Given the description of an element on the screen output the (x, y) to click on. 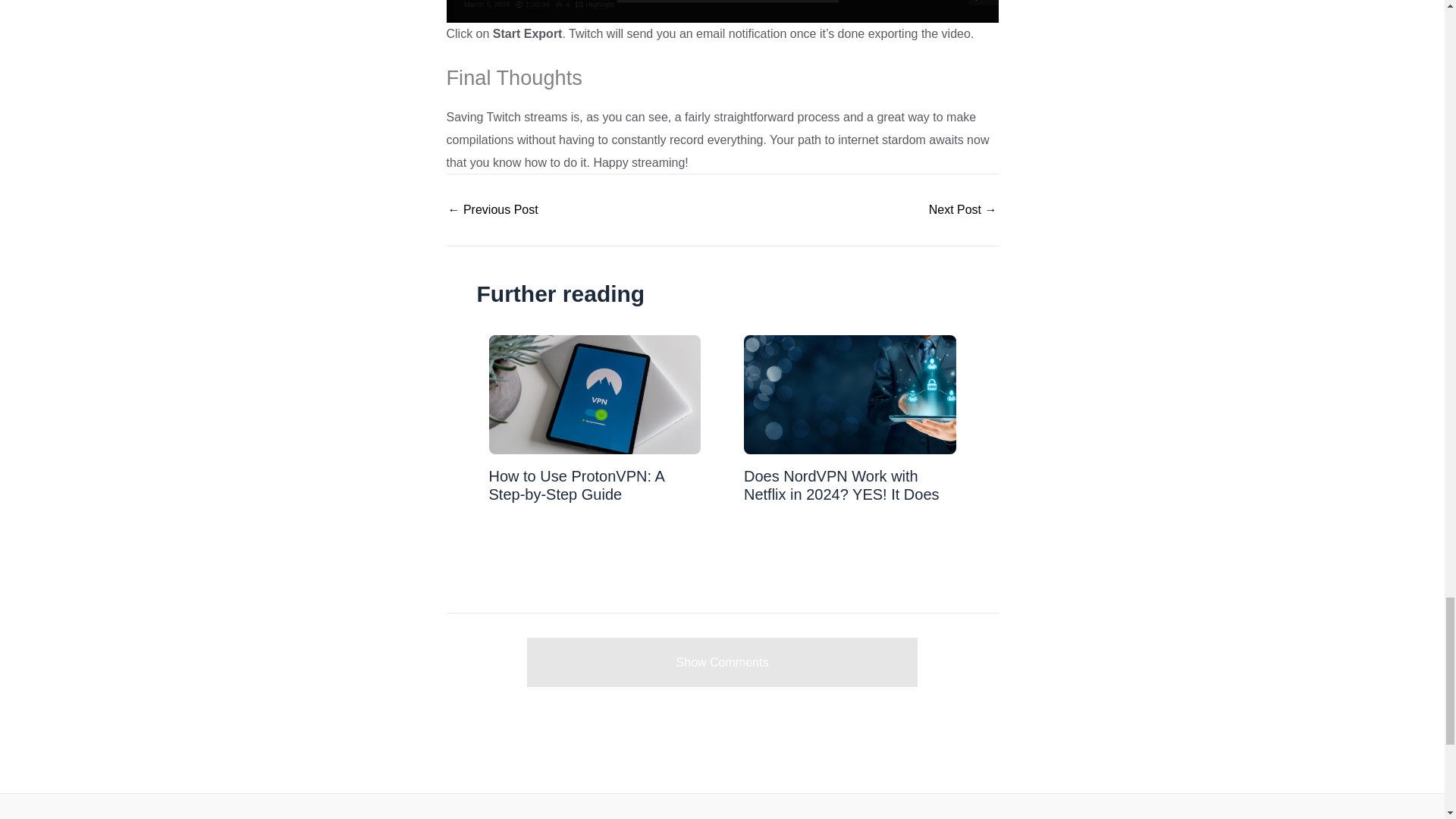
How To Cancel Your Peacock Subscription (491, 209)
How To Remove a Trojan Virus on a PC (962, 209)
